Given the description of an element on the screen output the (x, y) to click on. 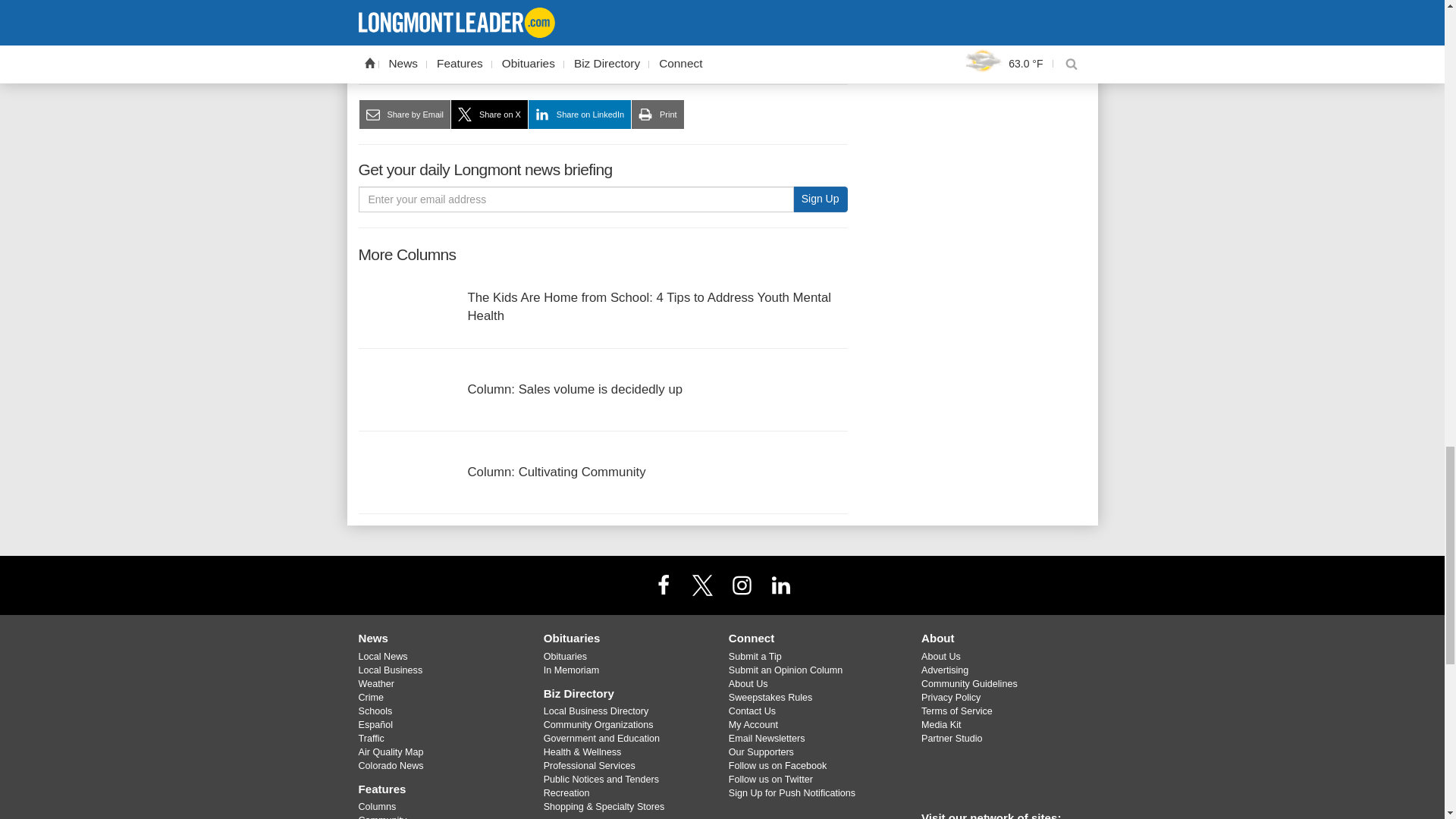
LinkedIn (780, 584)
Facebook (663, 584)
X (702, 584)
Instagram (741, 584)
